Given the description of an element on the screen output the (x, y) to click on. 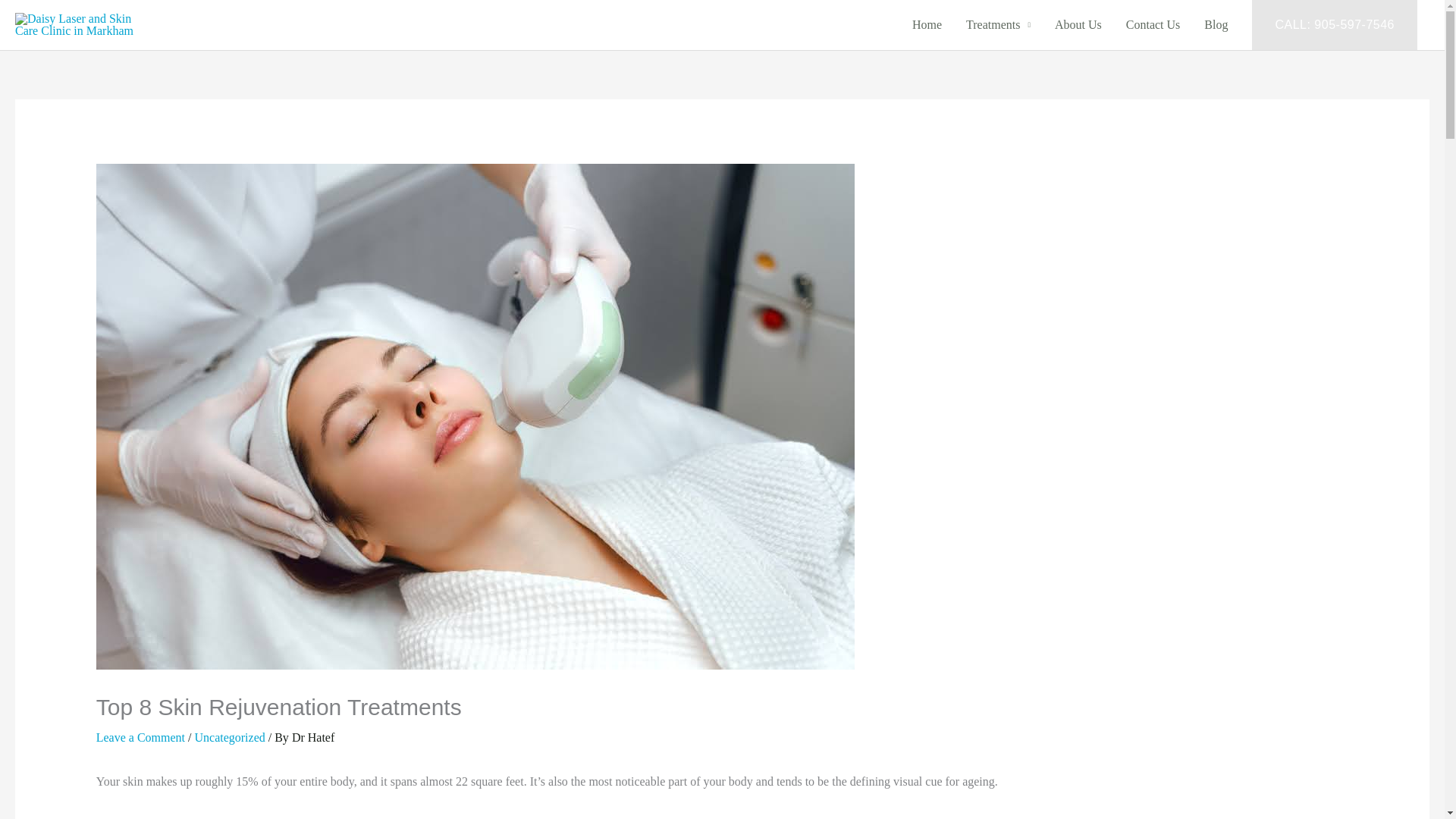
Home (926, 24)
About Us (1077, 24)
CALL: 905-597-7546 (1334, 24)
View all posts by Dr Hatef (313, 737)
Blog (1216, 24)
Treatments (997, 24)
Contact Us (1152, 24)
Dr Hatef (313, 737)
Leave a Comment (140, 737)
Uncategorized (228, 737)
